Given the description of an element on the screen output the (x, y) to click on. 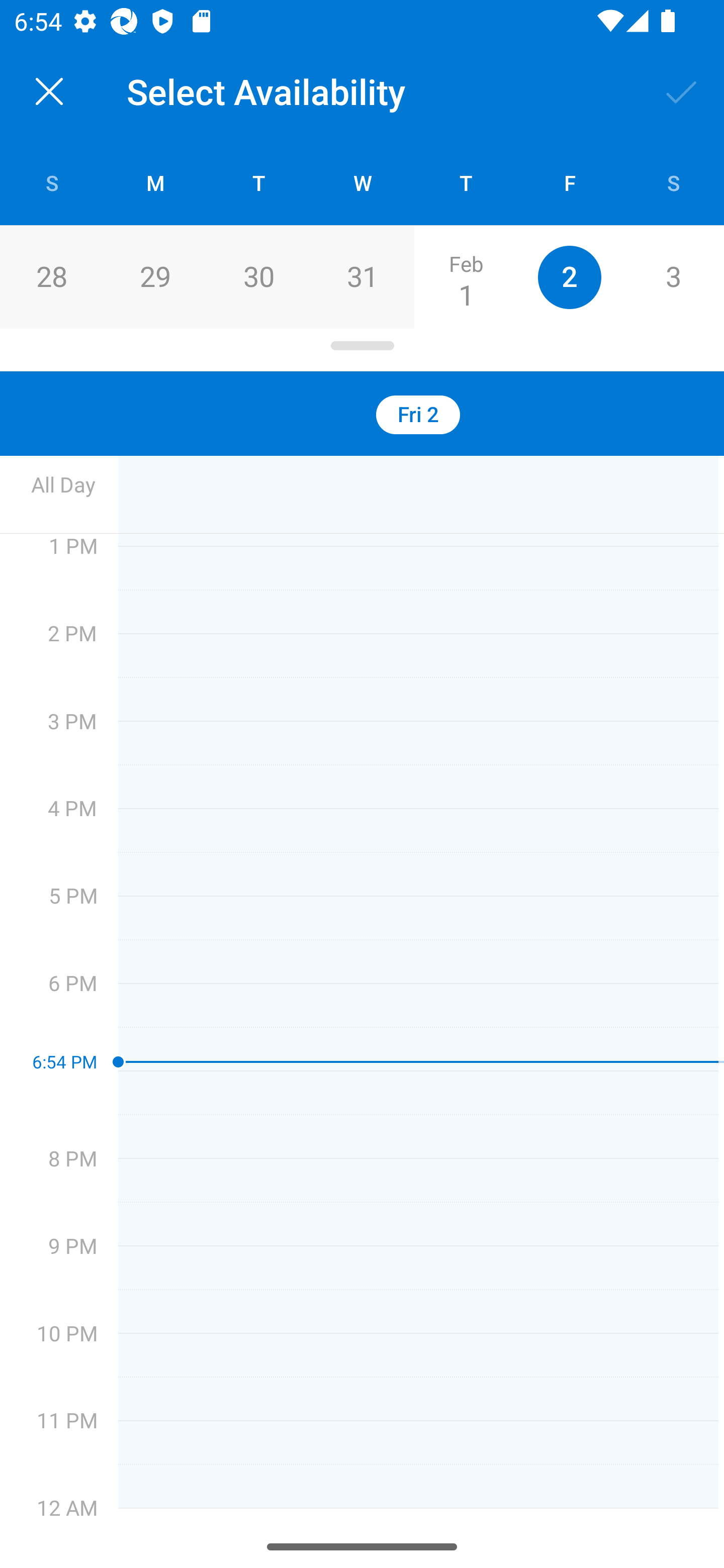
Close (49, 91)
Done button (681, 90)
28 Sunday, January 28 (51, 277)
29 Monday, January 29 (155, 277)
30 Tuesday, January 30 (258, 277)
31 Wednesday, January 31 (362, 277)
Feb
1 Thursday, February 1 (465, 277)
2 Friday, February 2, today, Selected (569, 277)
3 Saturday, February 3 (672, 277)
Day picker expand (362, 350)
